Given the description of an element on the screen output the (x, y) to click on. 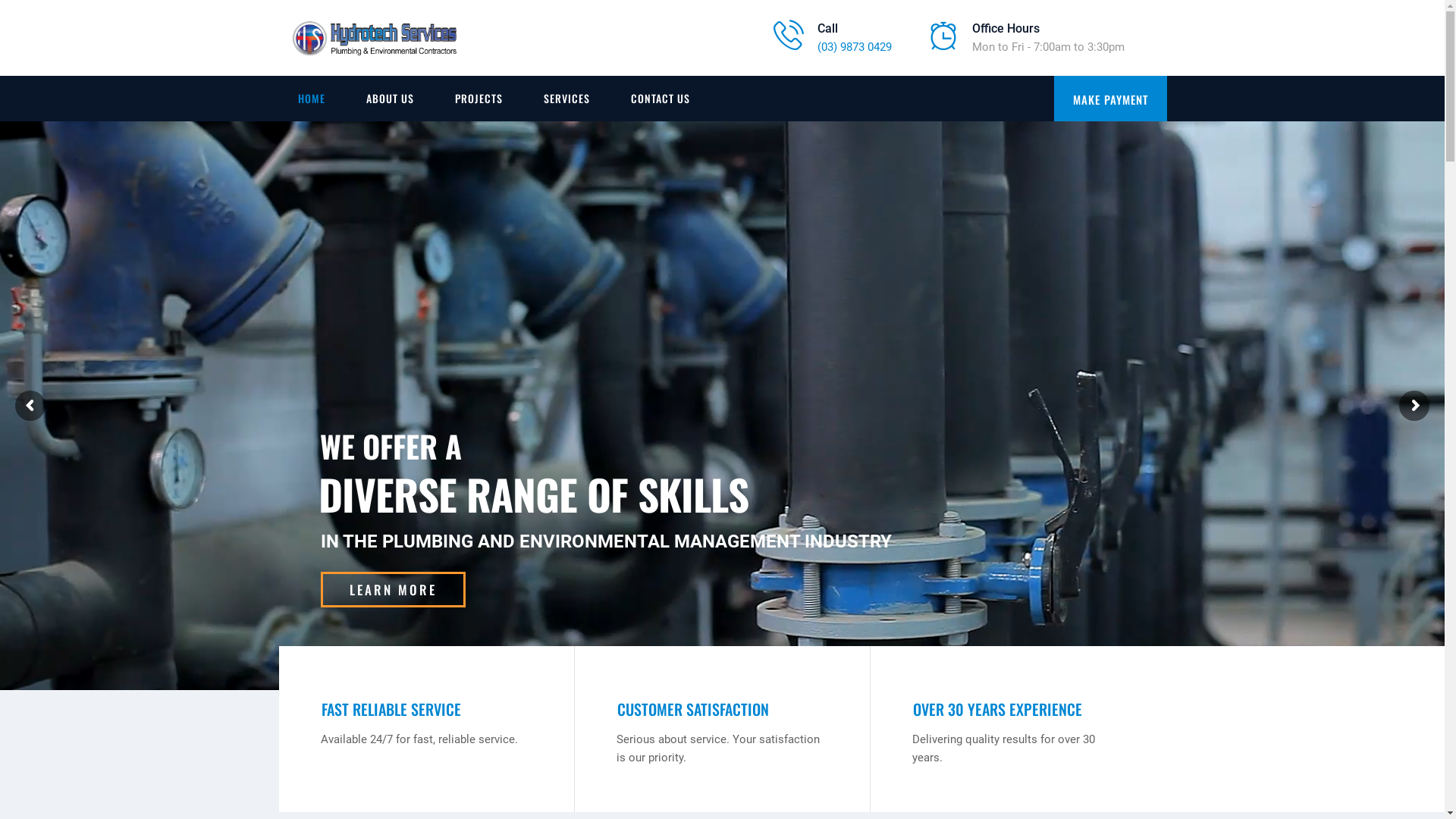
MAKE PAYMENT Element type: text (1110, 98)
CONTACT US Element type: text (659, 98)
SERVICES Element type: text (566, 98)
(03) 9873 0429 Element type: text (854, 46)
ABOUT US Element type: text (390, 98)
PROJECTS Element type: text (477, 98)
Hydrotech Services Element type: hover (374, 37)
HOME Element type: text (311, 98)
